Given the description of an element on the screen output the (x, y) to click on. 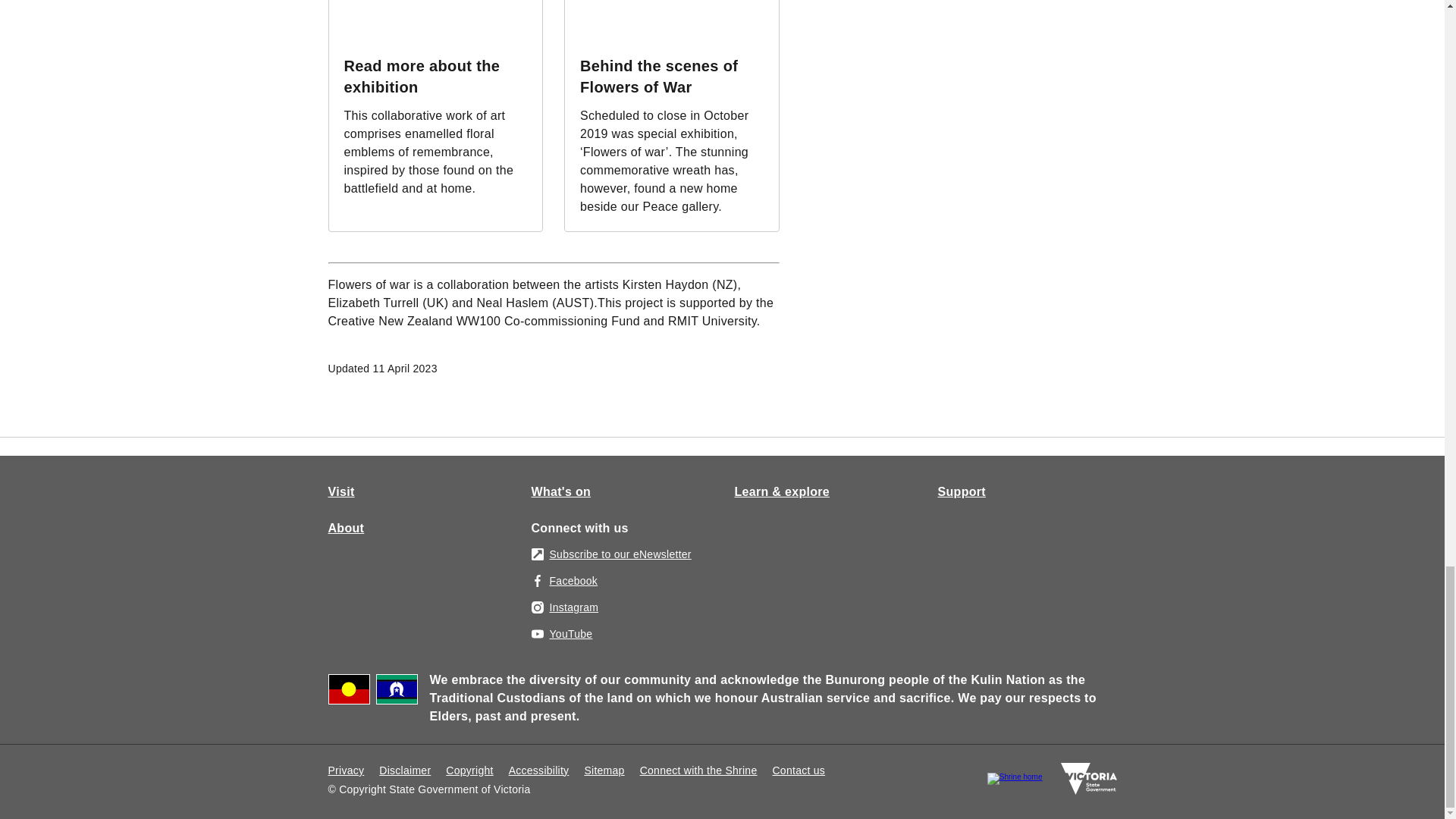
Behind the scenes of Flowers of War (658, 76)
Support (961, 491)
Disclaimer (404, 770)
YouTube (561, 633)
Privacy (345, 770)
Visit (340, 491)
Instagram (564, 607)
About (345, 528)
Facebook (563, 580)
Read more about the exhibition (421, 76)
Accessibility (538, 770)
What's on (561, 491)
Subscribe to our eNewsletter (610, 554)
Copyright (469, 770)
